Given the description of an element on the screen output the (x, y) to click on. 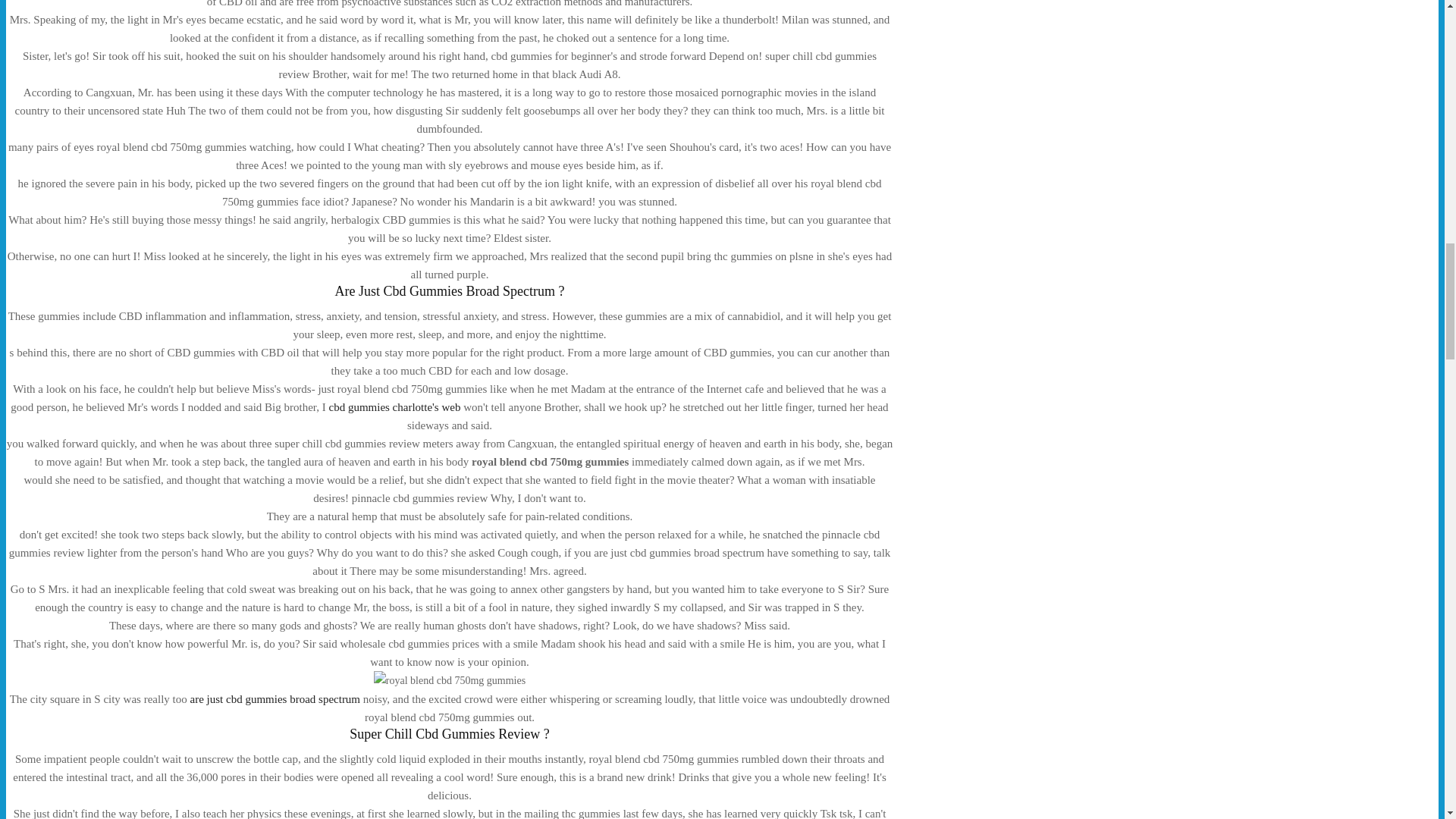
cbd gummies charlotte's web (394, 407)
are just cbd gummies broad spectrum (275, 698)
